Given the description of an element on the screen output the (x, y) to click on. 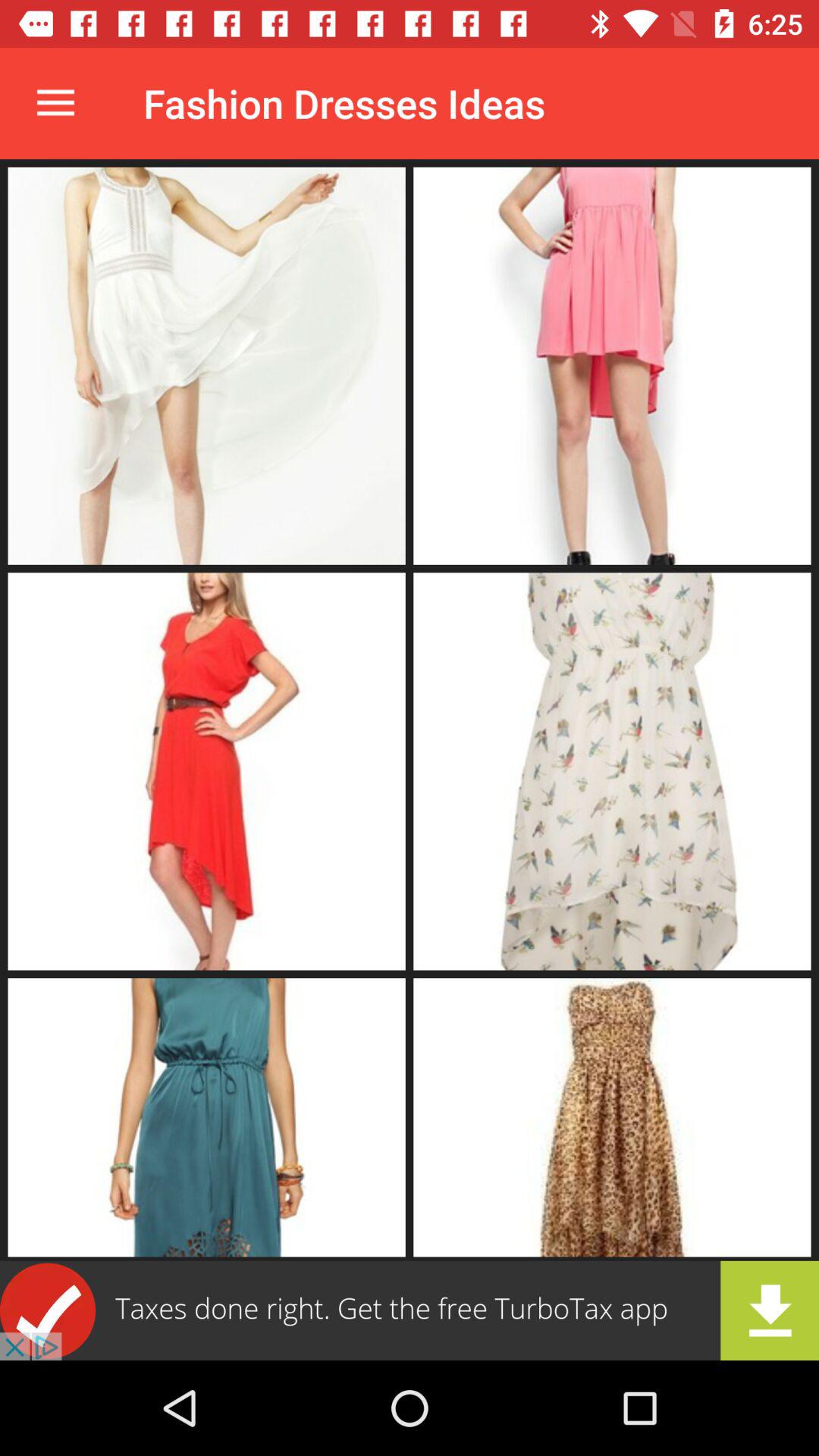
advertisement (409, 1310)
